Given the description of an element on the screen output the (x, y) to click on. 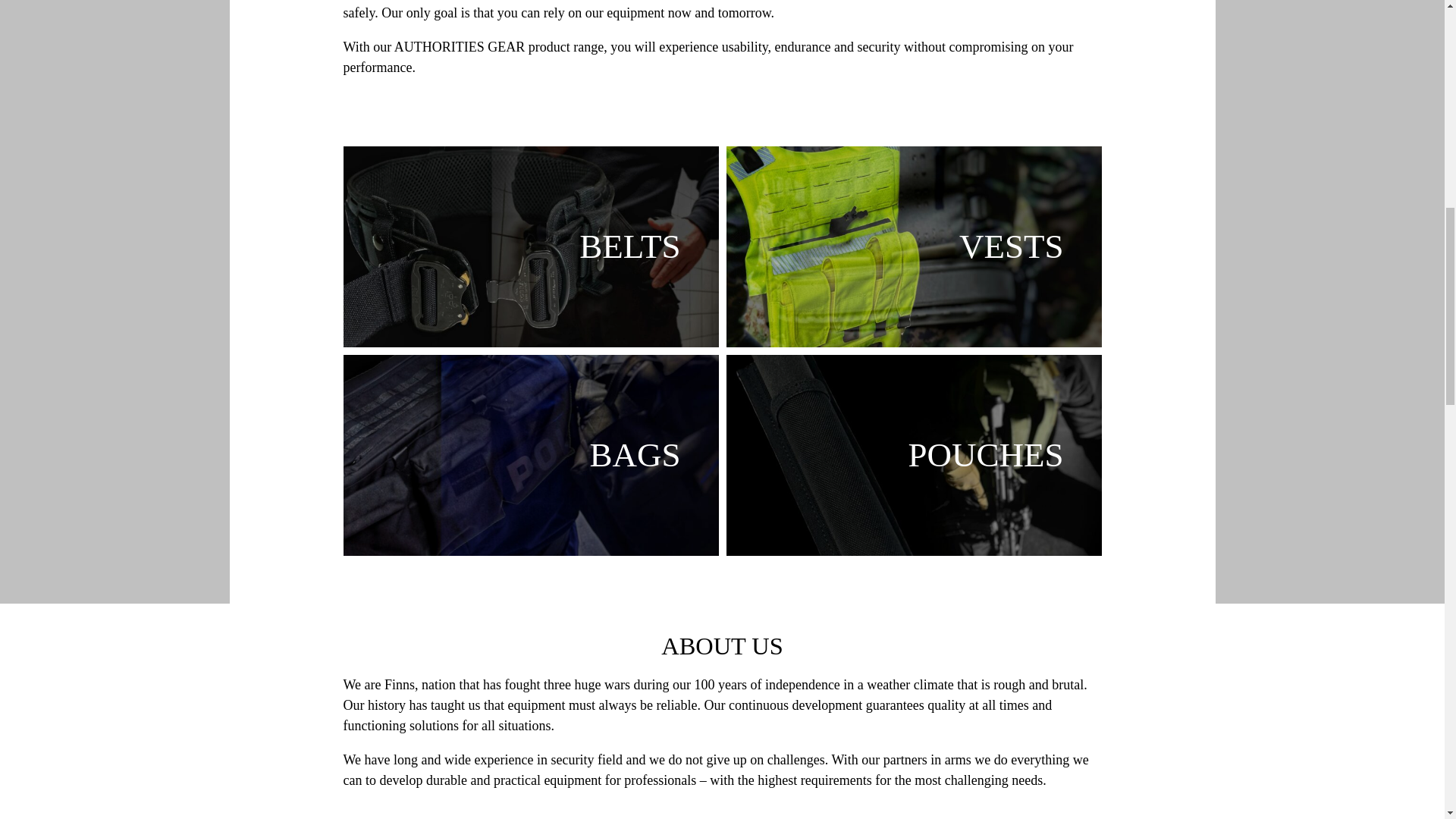
BAGS (529, 455)
BELTS (529, 246)
POUCHES (914, 455)
VESTS (914, 246)
